Given the description of an element on the screen output the (x, y) to click on. 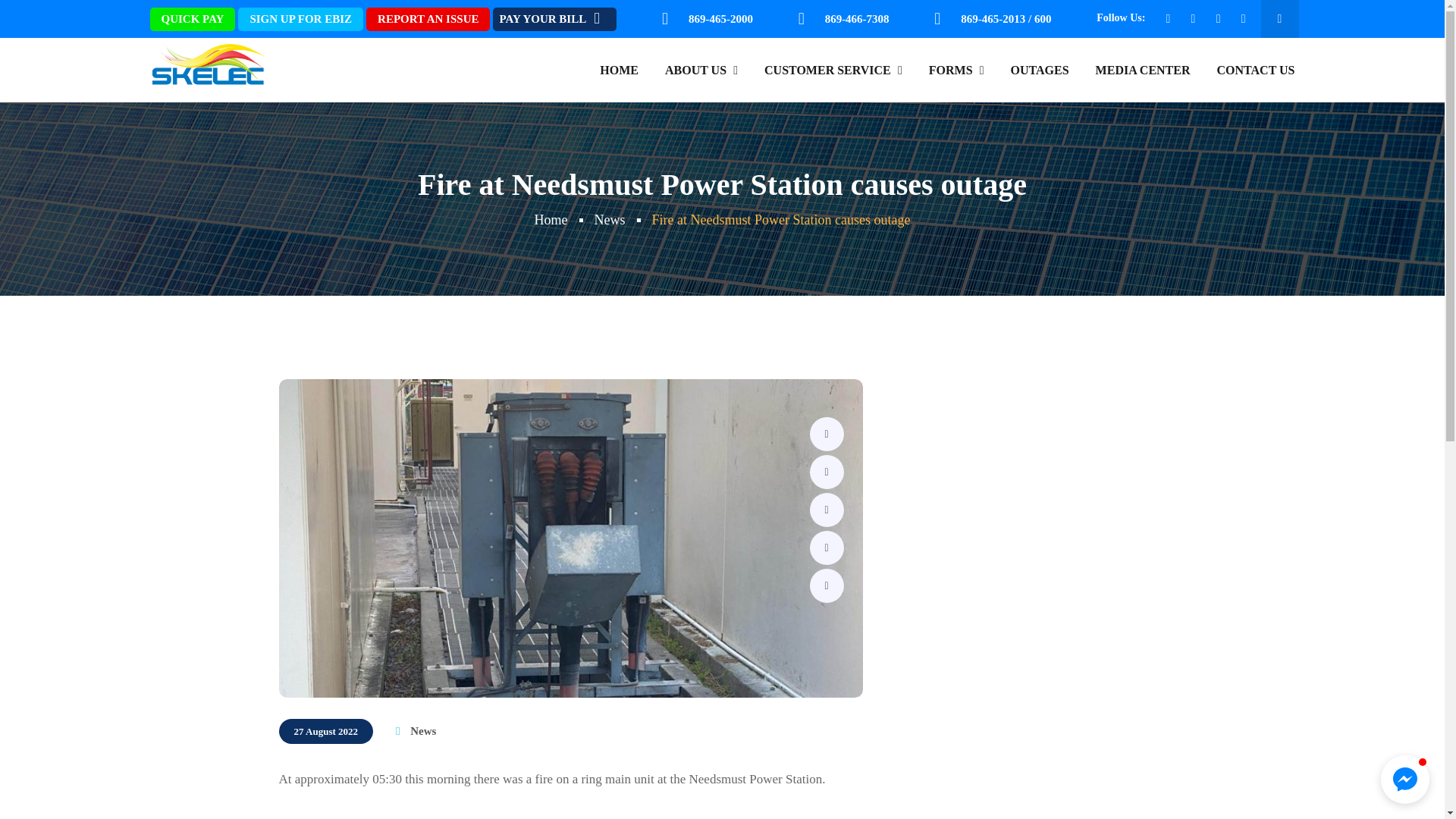
PAY YOUR BILL (554, 19)
CUSTOMER SERVICE (833, 69)
QUICK PAY (192, 19)
REPORT AN ISSUE (427, 19)
ABOUT US (701, 69)
Facebook (826, 433)
SIGN UP FOR EBIZ (300, 19)
